Given the description of an element on the screen output the (x, y) to click on. 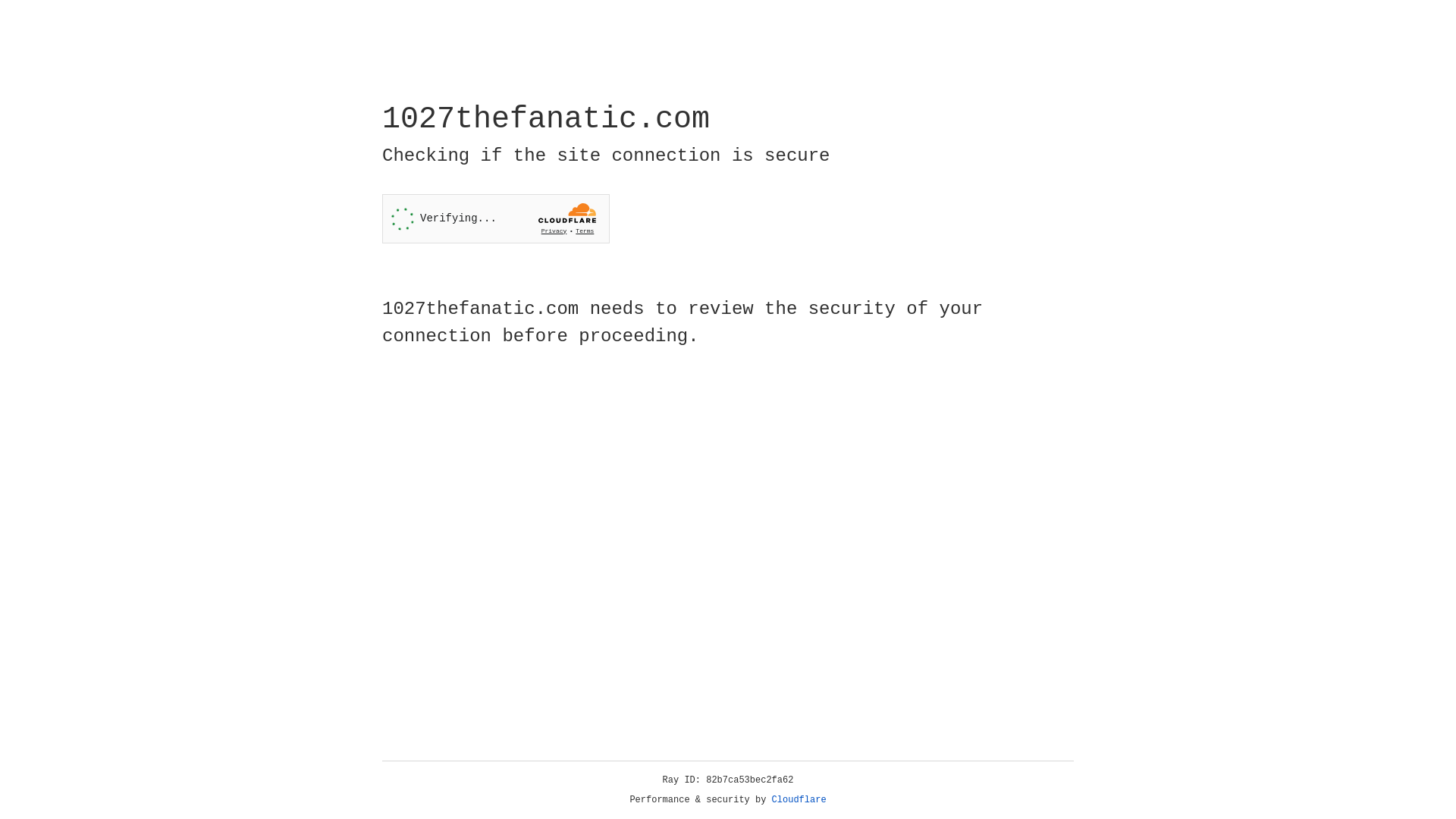
Widget containing a Cloudflare security challenge Element type: hover (495, 218)
Cloudflare Element type: text (798, 799)
